Given the description of an element on the screen output the (x, y) to click on. 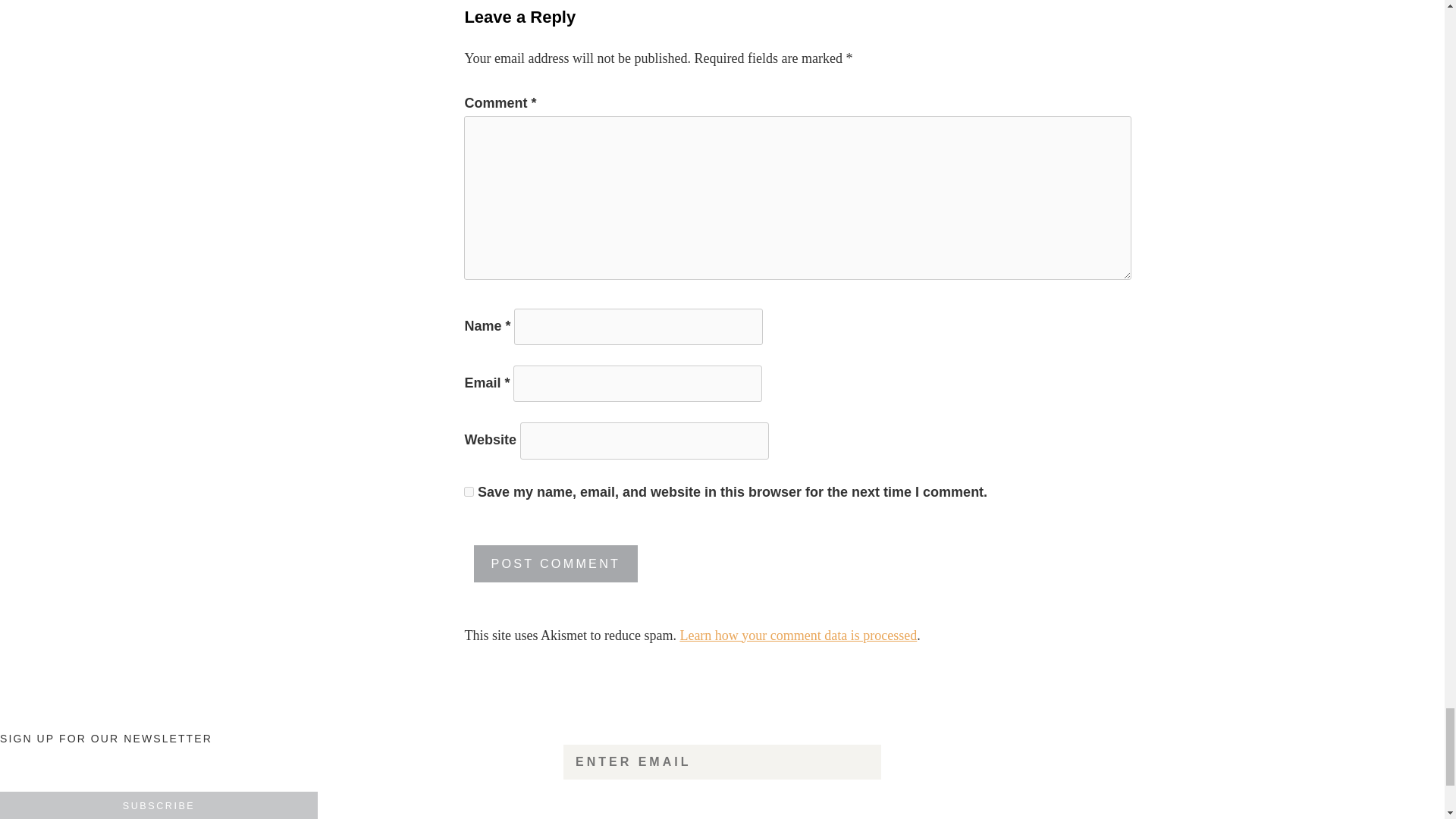
yes (469, 491)
Post Comment (556, 563)
Subscribe (158, 805)
